Given the description of an element on the screen output the (x, y) to click on. 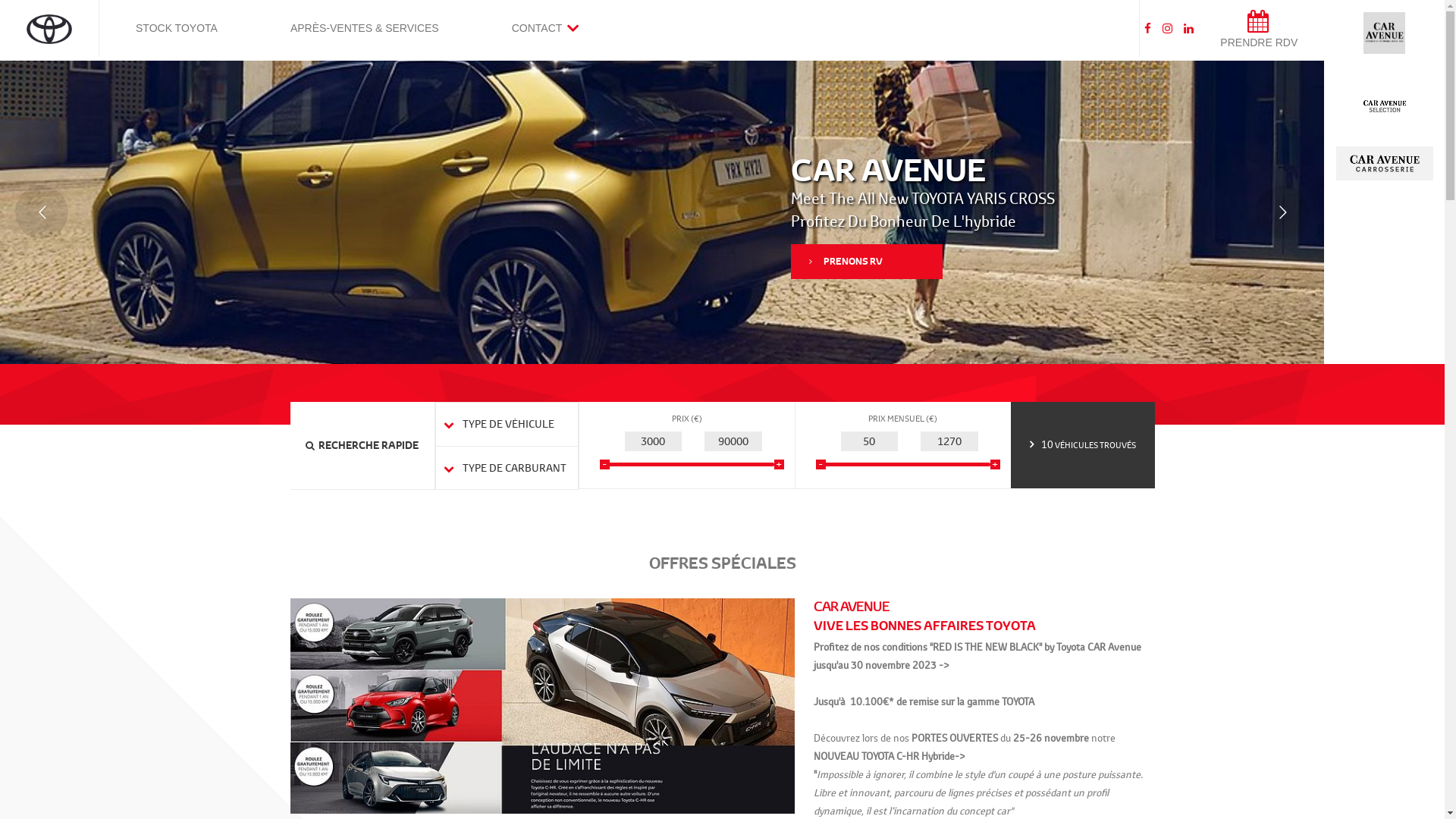
STOCK TOYOTA Element type: text (176, 28)
Facebook Element type: hover (1149, 28)
PRENONS RV Element type: text (866, 305)
Instagram Element type: hover (1169, 28)
Dealer Logo Element type: hover (49, 28)
CONTACT Element type: text (545, 28)
PRENDRE RDV Element type: text (1258, 29)
LinkedIn Element type: hover (1188, 28)
